Given the description of an element on the screen output the (x, y) to click on. 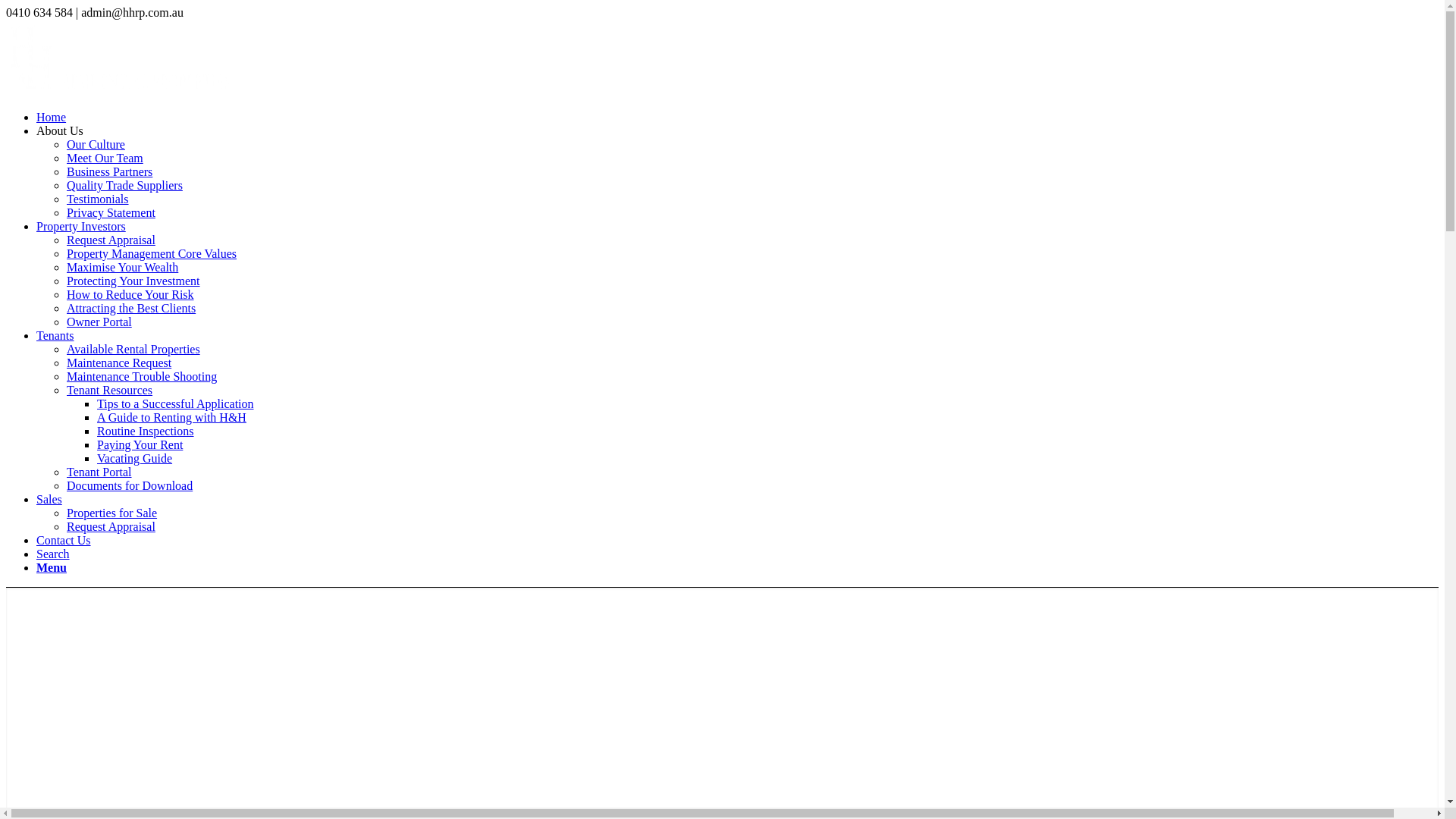
Maintenance Request Element type: text (118, 362)
A Guide to Renting with H&H Element type: text (171, 417)
Protecting Your Investment Element type: text (133, 280)
Property Management Core Values Element type: text (151, 253)
Search Element type: text (52, 553)
Property Investors Element type: text (80, 225)
Properties for Sale Element type: text (111, 512)
Vacating Guide Element type: text (134, 457)
Business Partners Element type: text (109, 171)
Attracting the Best Clients Element type: text (130, 307)
Contact Us Element type: text (63, 539)
Available Rental Properties Element type: text (133, 348)
Sales Element type: text (49, 498)
Documents for Download Element type: text (129, 485)
Privacy Statement Element type: text (110, 212)
Paying Your Rent Element type: text (139, 444)
How to Reduce Your Risk Element type: text (130, 294)
Routine Inspections Element type: text (145, 430)
Maximise Your Wealth Element type: text (122, 266)
Meet Our Team Element type: text (104, 157)
About Us Element type: text (59, 130)
Our Culture Element type: text (95, 144)
Tenants Element type: text (55, 335)
Tenant Portal Element type: text (98, 471)
Request Appraisal Element type: text (110, 526)
Maintenance Trouble Shooting Element type: text (141, 376)
Request Appraisal Element type: text (110, 239)
Quality Trade Suppliers Element type: text (124, 184)
Testimonials Element type: text (97, 198)
Menu Element type: text (51, 567)
Owner Portal Element type: text (98, 321)
Tips to a Successful Application Element type: text (175, 403)
Home Element type: text (50, 116)
Tenant Resources Element type: text (109, 389)
